Given the description of an element on the screen output the (x, y) to click on. 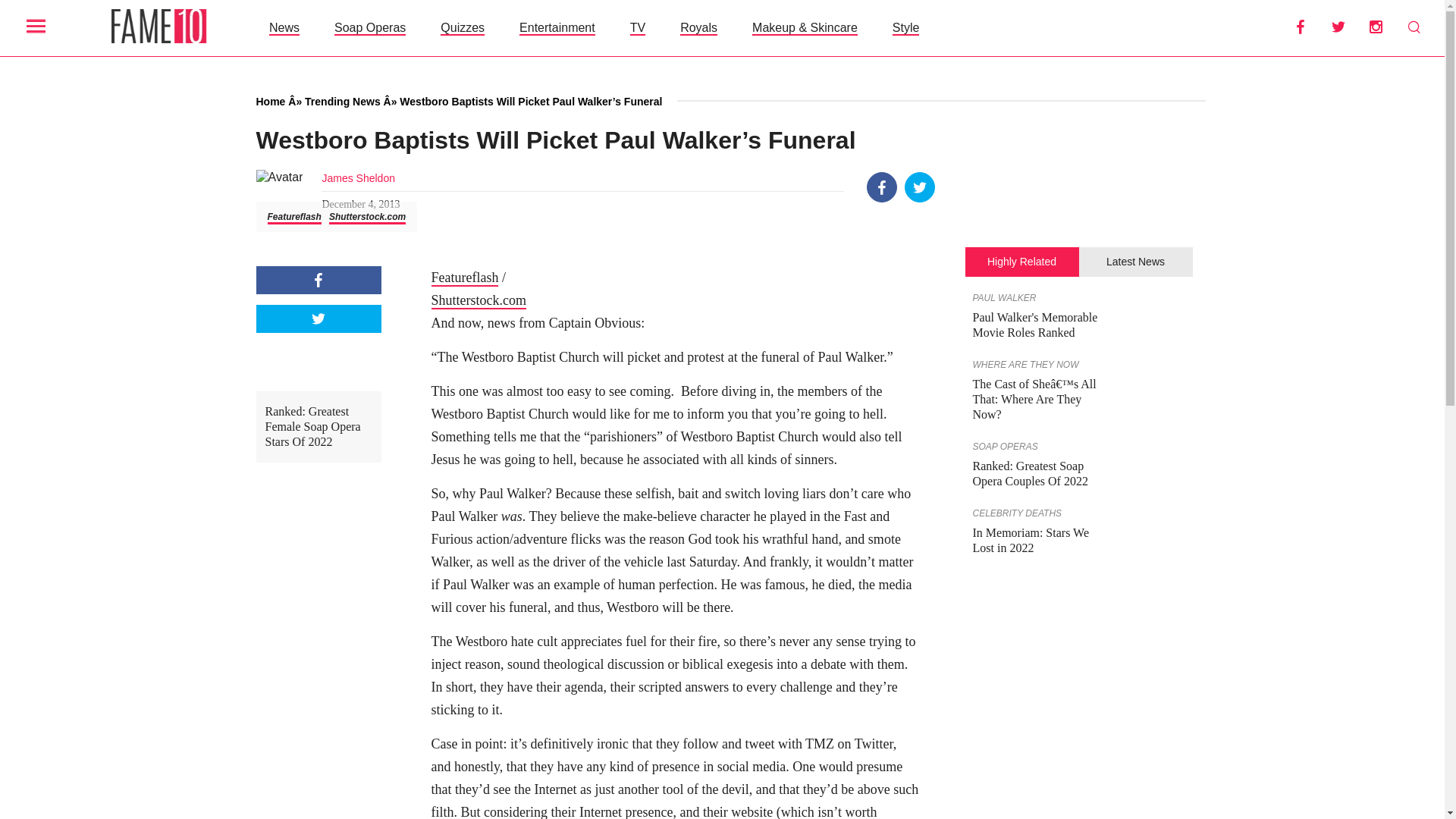
Facebook (1299, 26)
Facebook (318, 279)
Ranked: Greatest Female Soap Opera Stars Of 2022 (318, 426)
Twitter (919, 186)
Twitter (318, 318)
Soap Operas (370, 27)
Home (270, 101)
Twitter (1337, 26)
Quizzes (462, 27)
TV (637, 27)
